Given the description of an element on the screen output the (x, y) to click on. 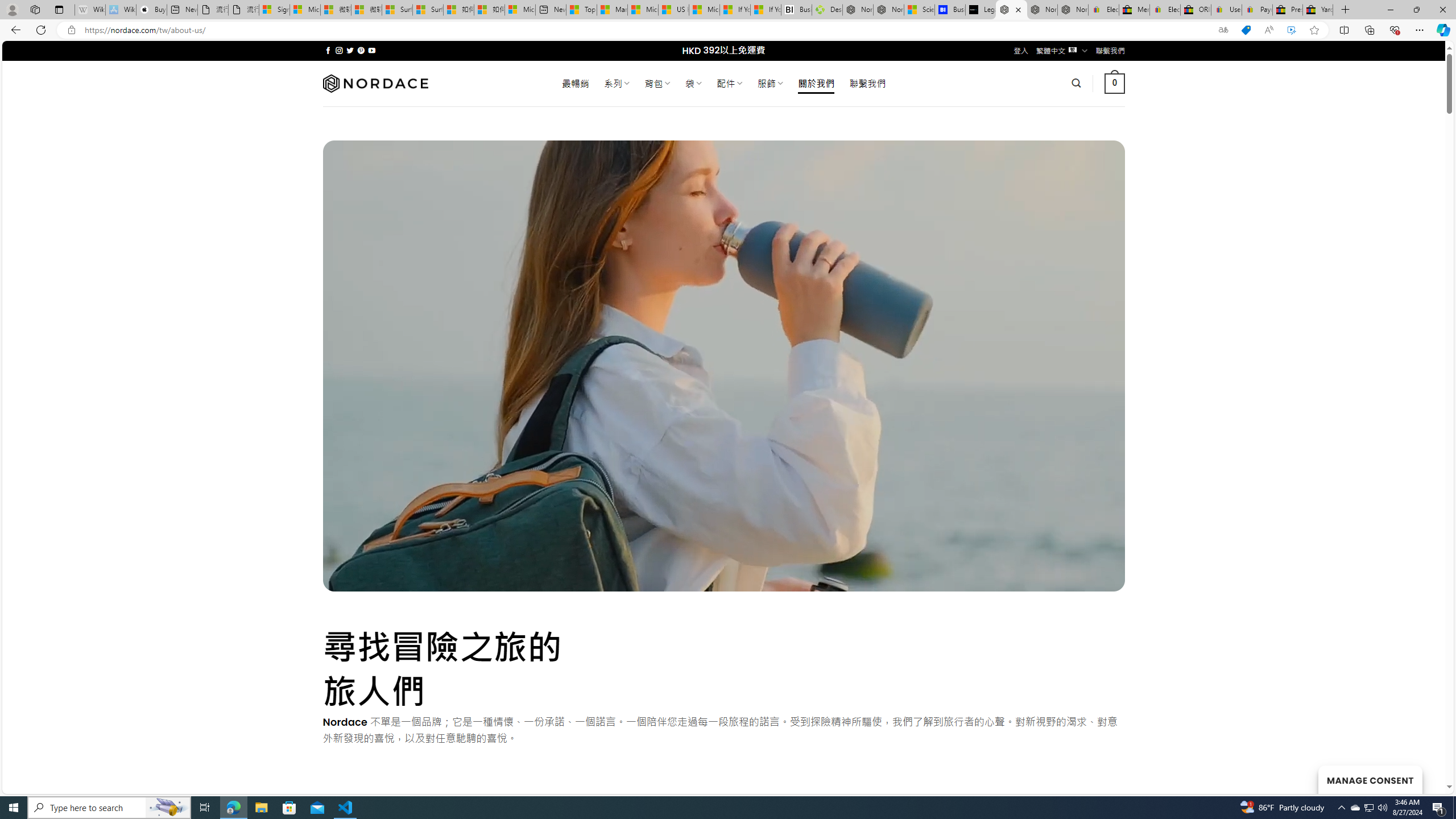
Marine life - MSN (611, 9)
